Given the description of an element on the screen output the (x, y) to click on. 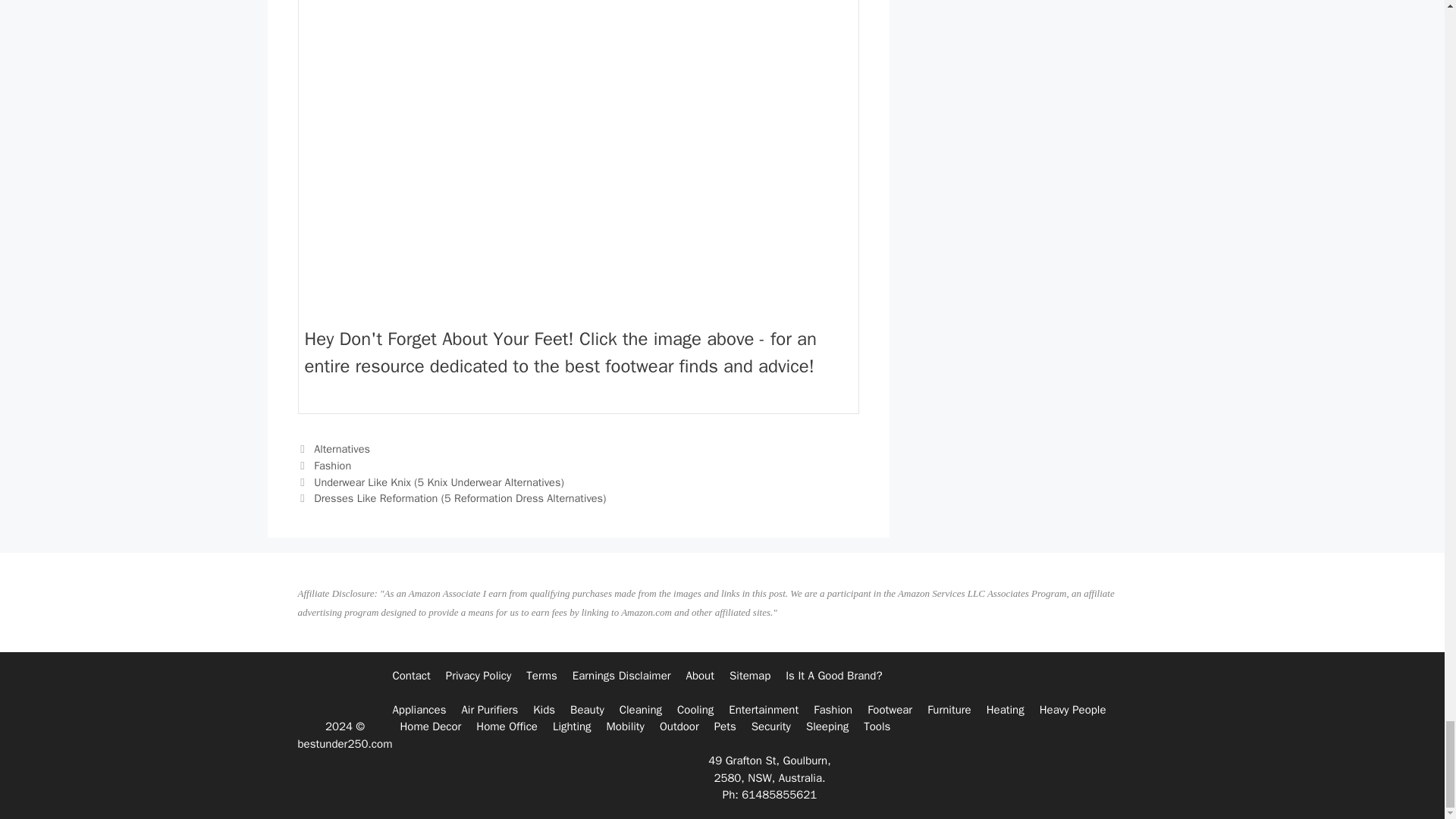
Fashion (332, 465)
Alternatives (341, 448)
Contact (410, 675)
